Given the description of an element on the screen output the (x, y) to click on. 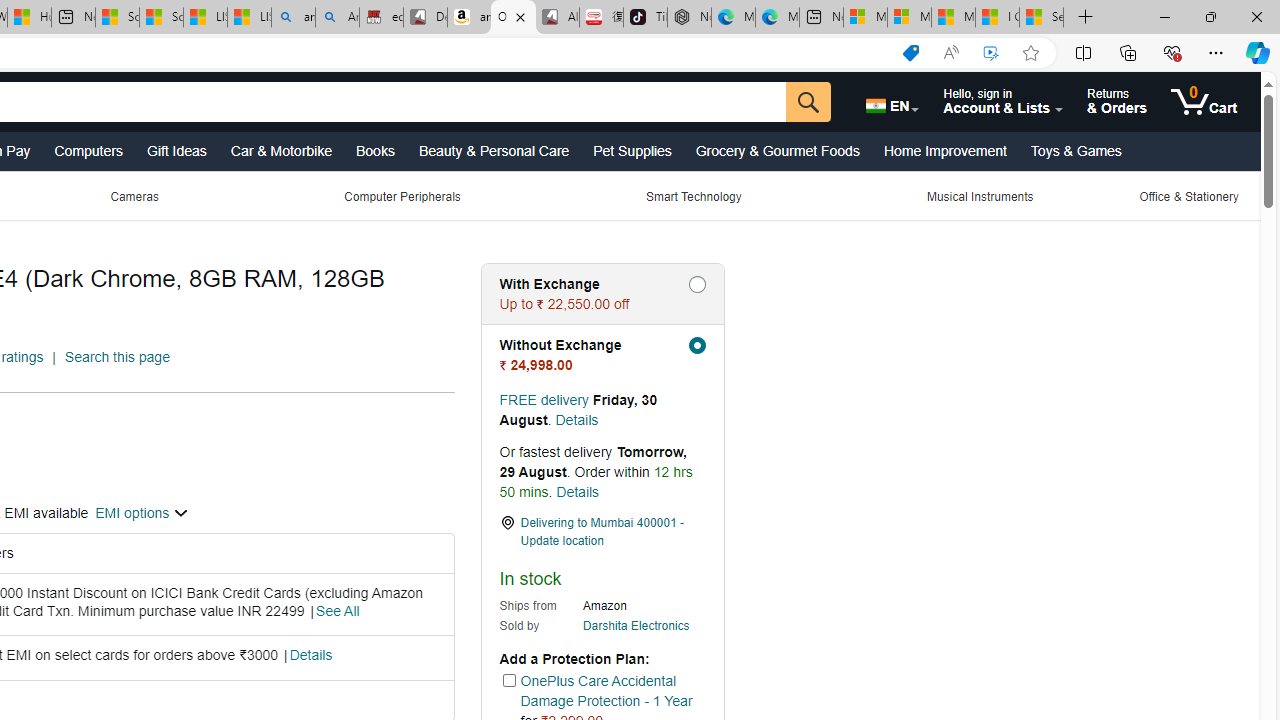
Beauty & Personal Care (493, 150)
I Gained 20 Pounds of Muscle in 30 Days! | Watch (996, 17)
Search this page (117, 357)
amazon.in/dp/B0CX59H5W7/?tag=gsmcom05-21 (469, 17)
amazon - Search (292, 17)
Grocery & Gourmet Foods (777, 150)
Computers (88, 150)
Hello, sign in Account & Lists (1003, 101)
|See All (333, 612)
|Details (306, 656)
Toys & Games (1075, 150)
